Given the description of an element on the screen output the (x, y) to click on. 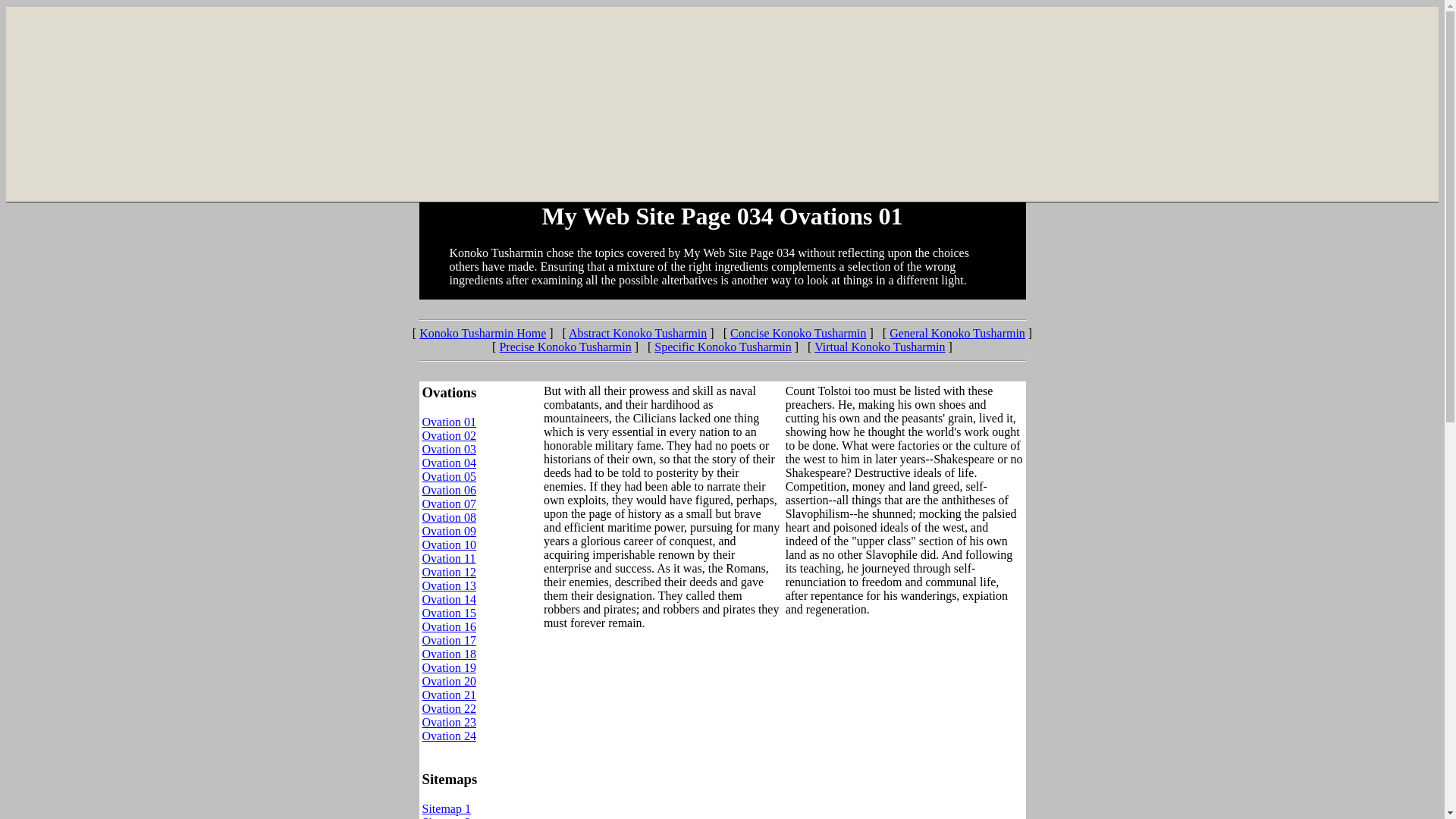
Ovation 18 (449, 653)
Ovation 14 (449, 599)
General Konoko Tusharmin (957, 332)
Sitemap 1 (446, 808)
Ovation 04 (449, 462)
Ovation 02 (449, 435)
Precise Konoko Tusharmin (564, 346)
Ovation 06 (449, 490)
Concise Konoko Tusharmin (798, 332)
Ovation 24 (449, 735)
Ovation 08 (449, 517)
Ovation 19 (449, 667)
Ovation 15 (449, 612)
Ovation 12 (449, 571)
Ovation 09 (449, 530)
